Given the description of an element on the screen output the (x, y) to click on. 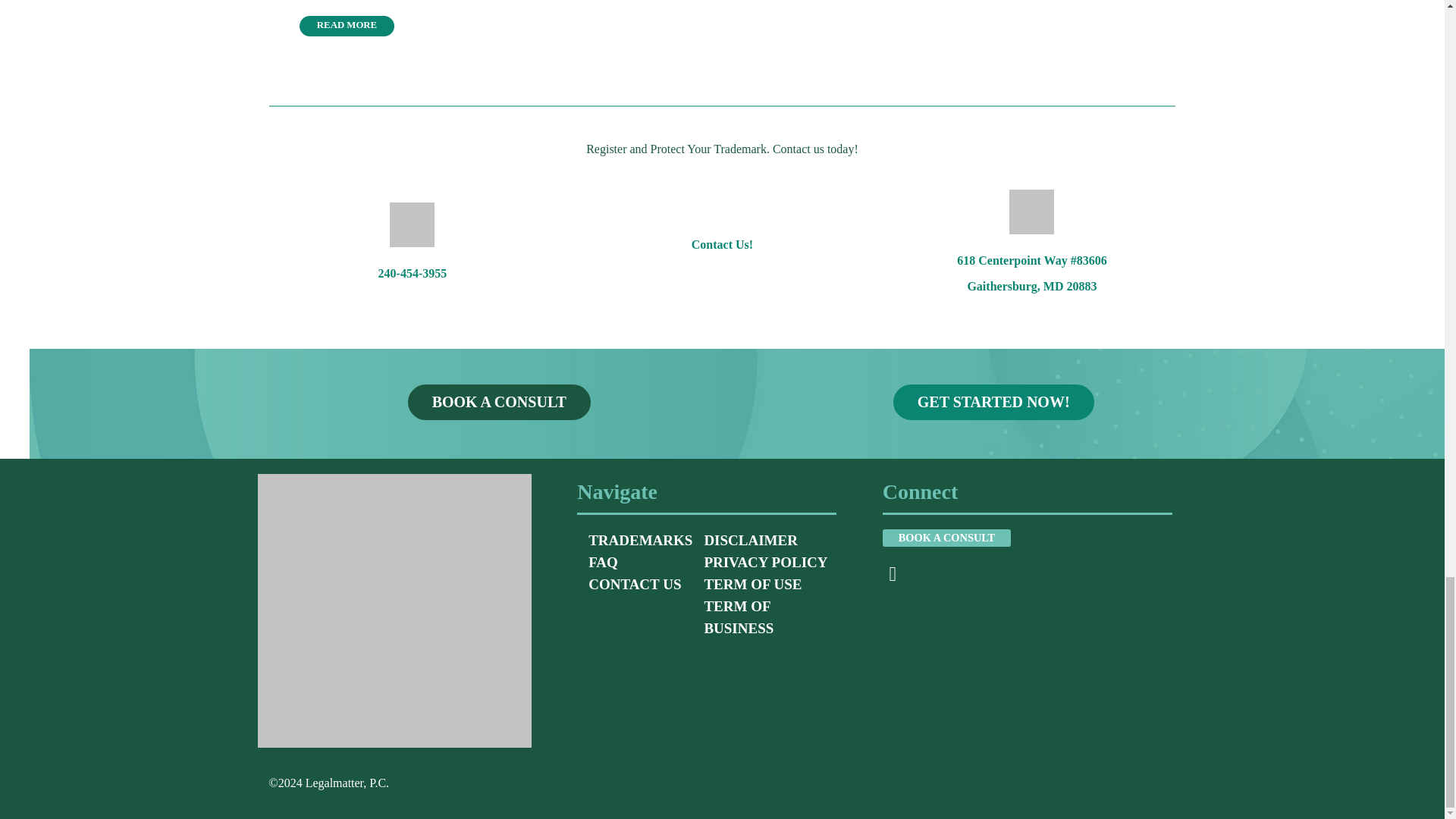
phone-icon (411, 224)
pin-icon (1031, 211)
